Given the description of an element on the screen output the (x, y) to click on. 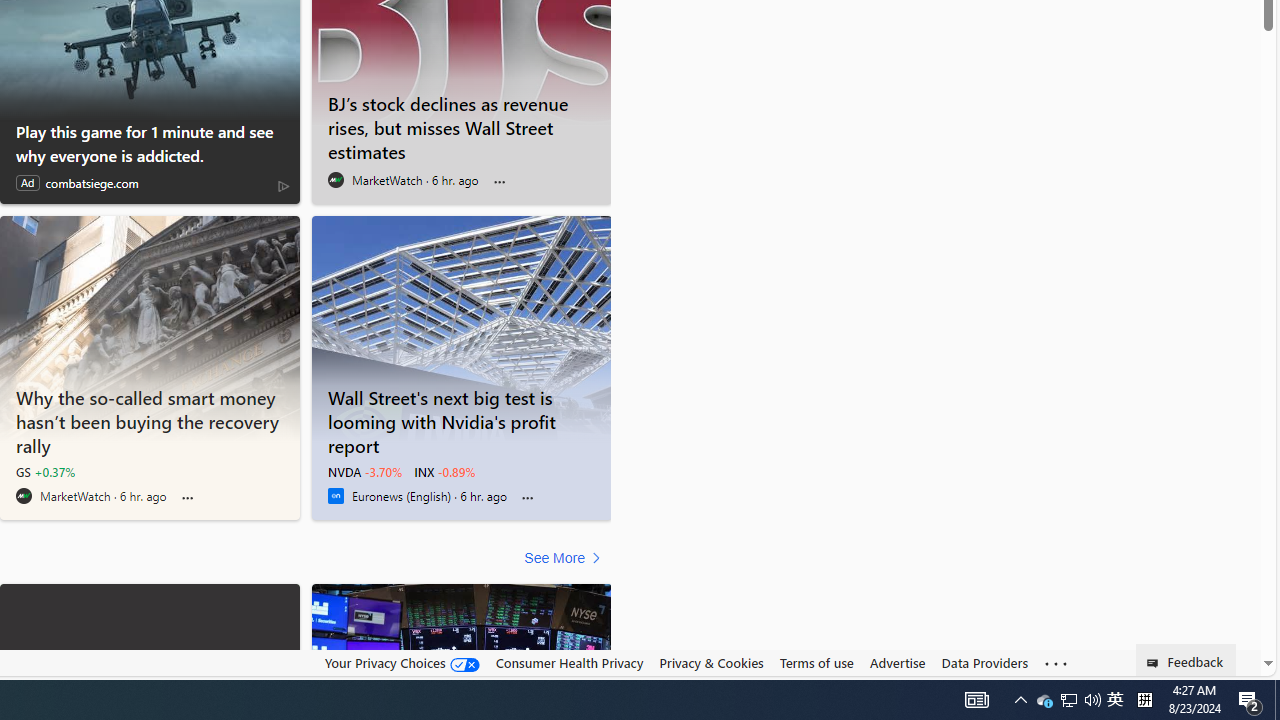
Data Providers (983, 662)
GS +0.37% (45, 471)
INX -0.89% (444, 471)
Euronews (English) (335, 495)
Data Providers (983, 663)
AdChoices (283, 184)
Class: feedback_link_icon-DS-EntryPoint1-1 (1156, 663)
